Given the description of an element on the screen output the (x, y) to click on. 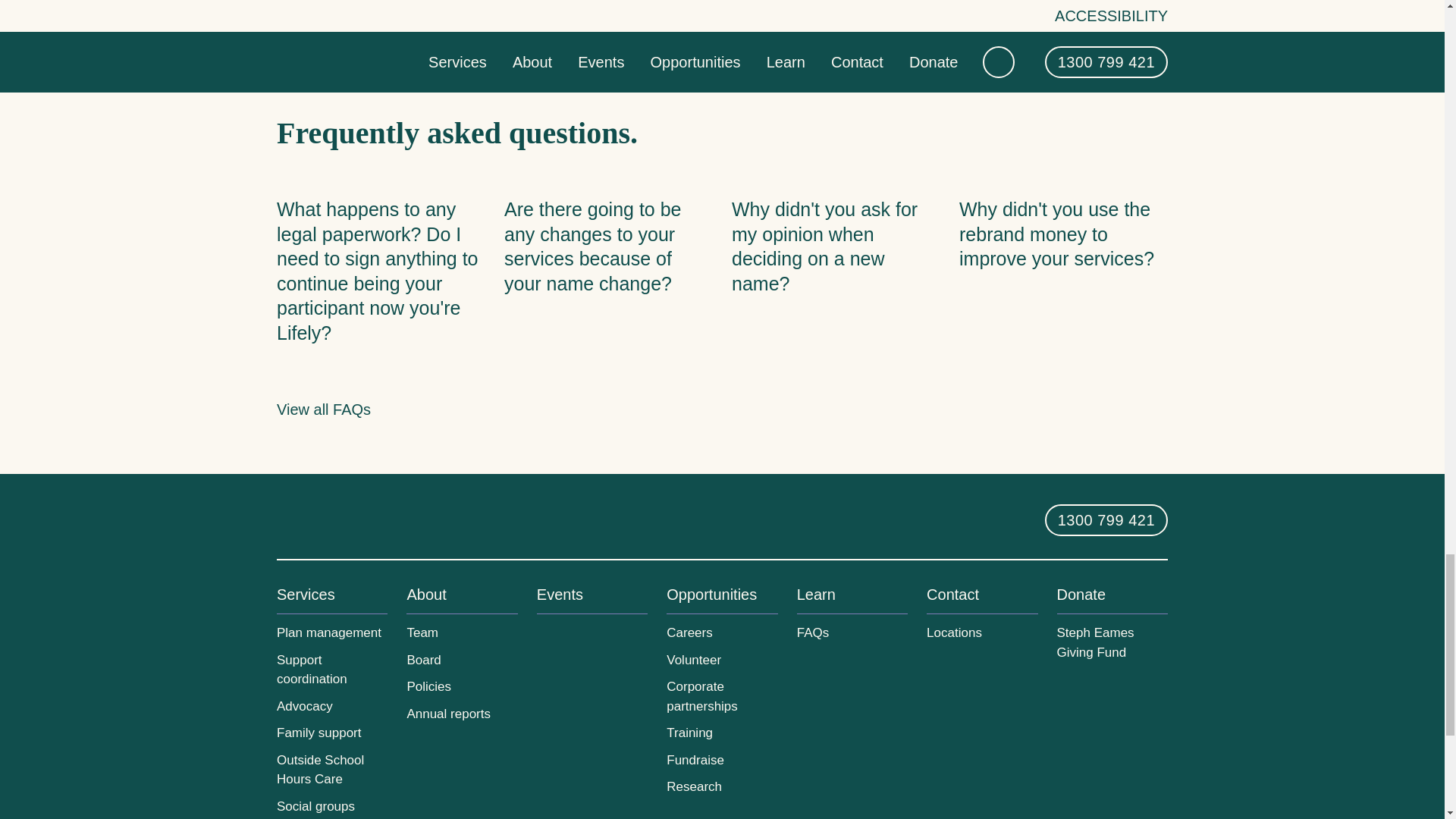
Submit (486, 15)
Go to home page (336, 519)
